Given the description of an element on the screen output the (x, y) to click on. 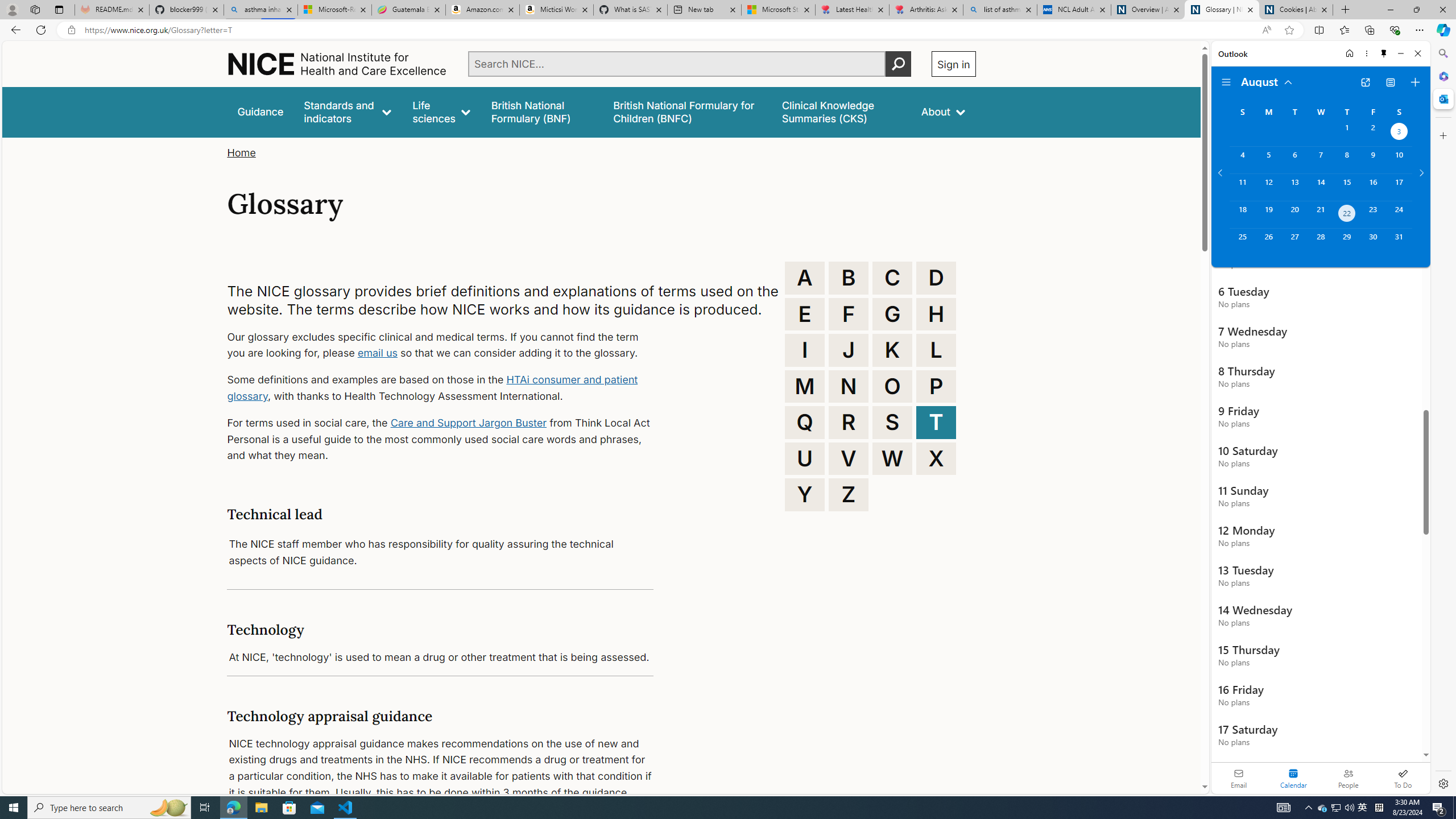
list of asthma inhalers uk - Search (1000, 9)
Glossary | NICE (1221, 9)
Selected calendar module. Date today is 22 (1293, 777)
P (935, 385)
C (892, 277)
Perform search (898, 63)
G (892, 313)
B (848, 277)
Friday, August 30, 2024.  (1372, 241)
Tuesday, August 20, 2024.  (1294, 214)
